Given the description of an element on the screen output the (x, y) to click on. 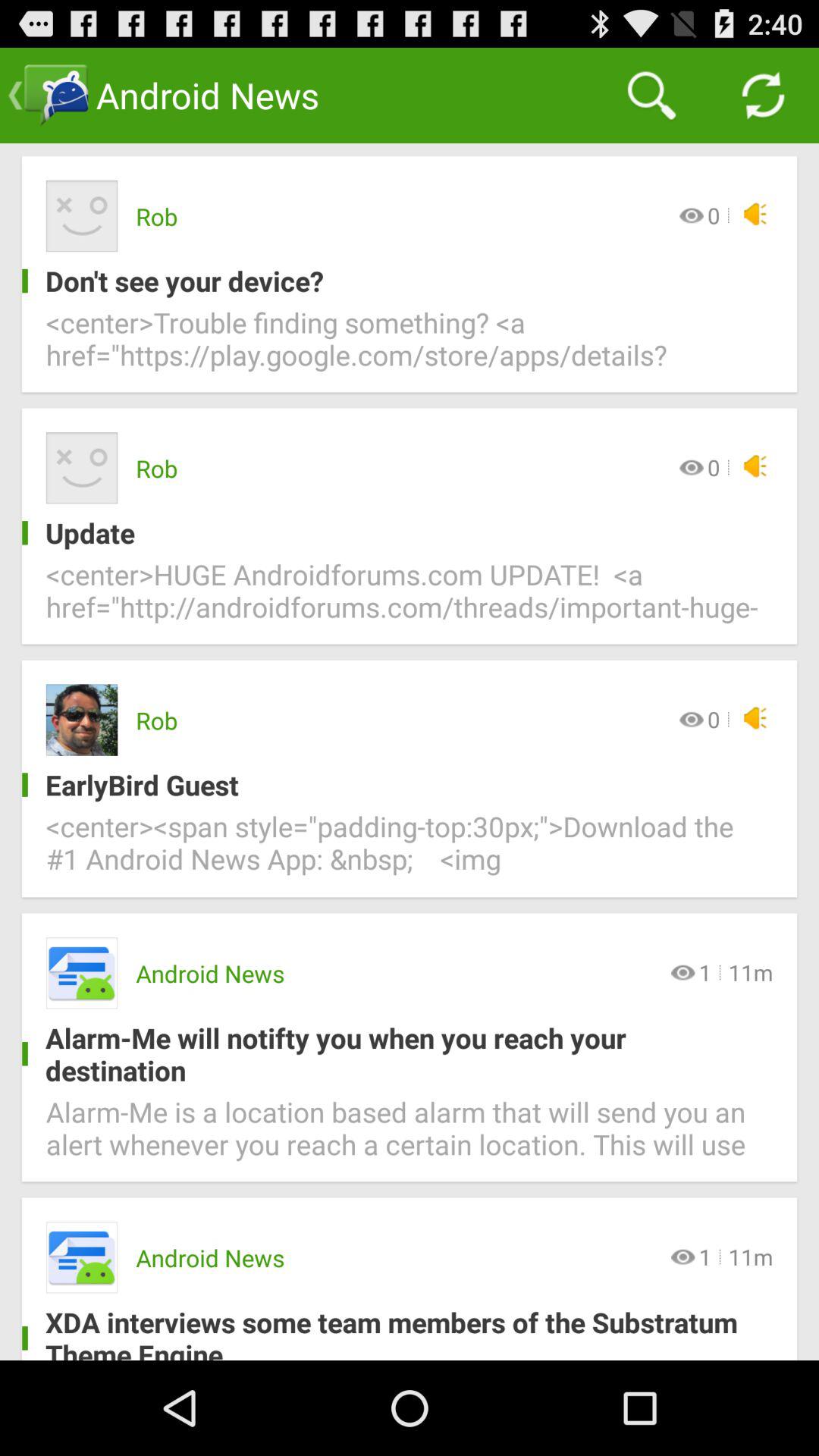
tap icon above center span style (397, 784)
